Given the description of an element on the screen output the (x, y) to click on. 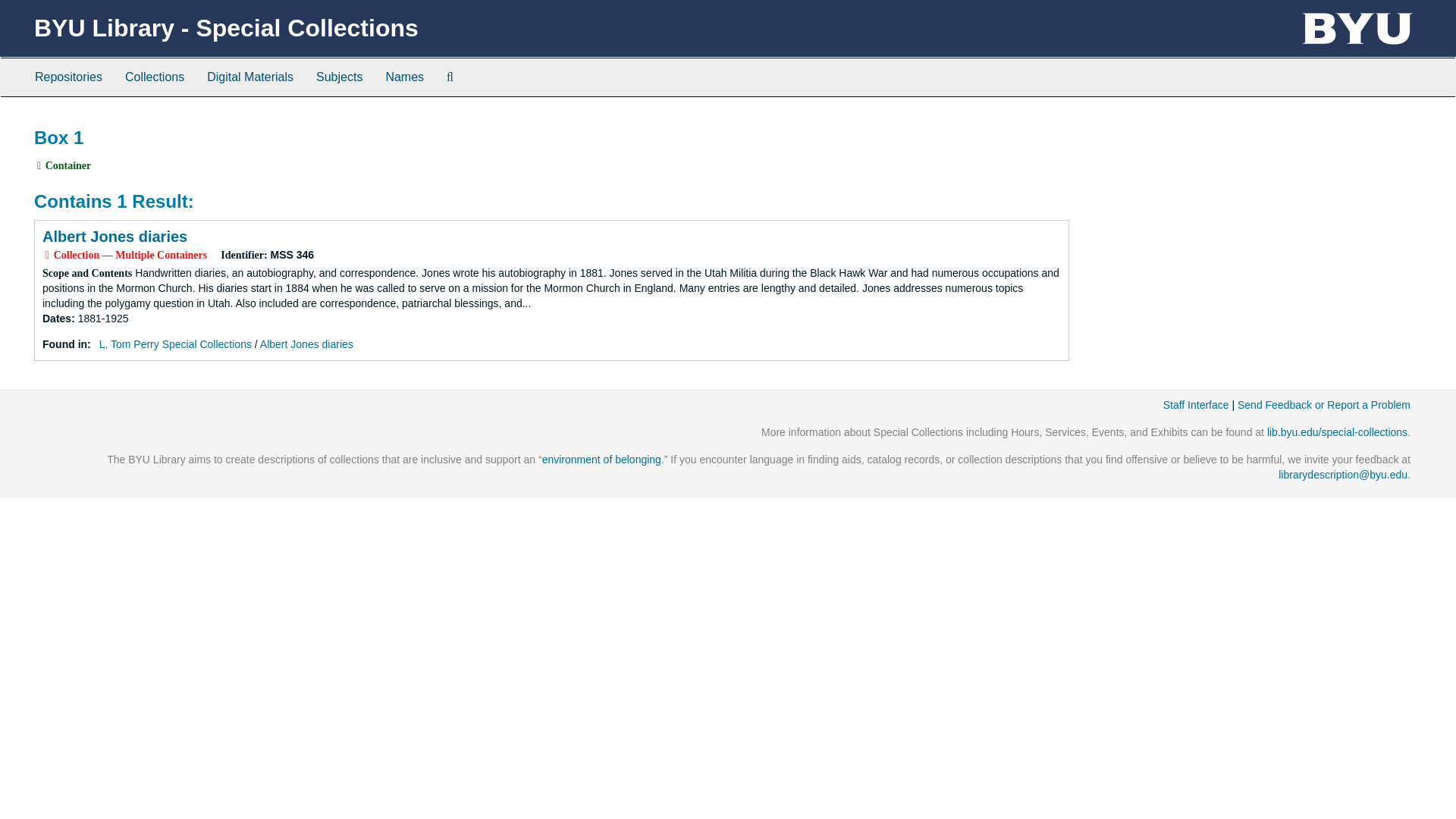
L. Tom Perry Special Collections (175, 344)
environment of belonging (601, 459)
Digital Materials (249, 77)
Albert Jones diaries (306, 344)
Page Actions (1139, 120)
Return to the homepage (226, 27)
translation missing: en.dates (56, 318)
Staff Interface (1195, 404)
Names (404, 77)
Repositories (68, 77)
